Given the description of an element on the screen output the (x, y) to click on. 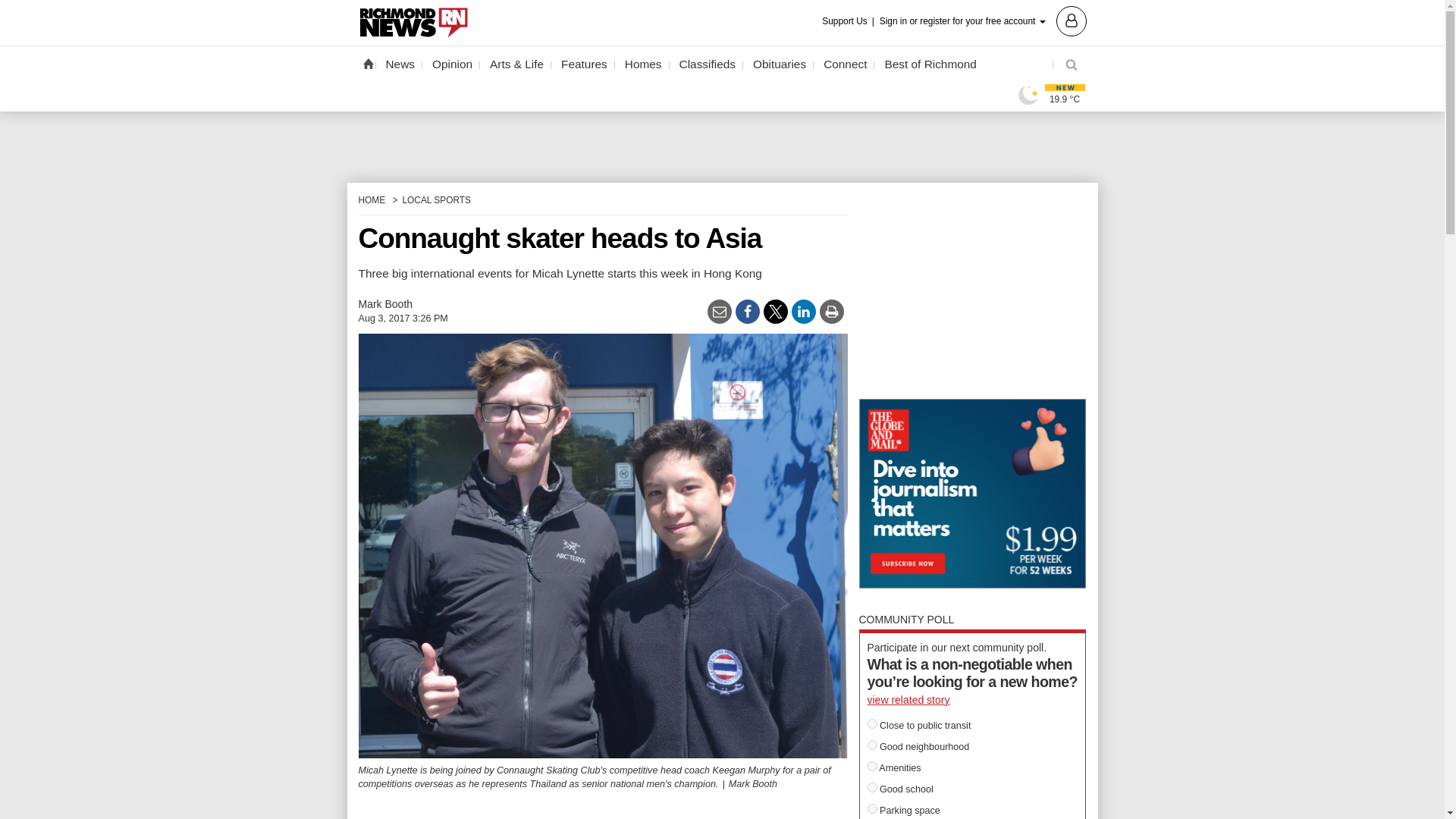
Sign in or register for your free account (982, 20)
Support Us (849, 21)
News (400, 64)
Home (367, 63)
Opinion (452, 64)
121755 (872, 745)
121756 (872, 766)
121757 (872, 808)
121760 (872, 787)
121754 (872, 723)
